Given the description of an element on the screen output the (x, y) to click on. 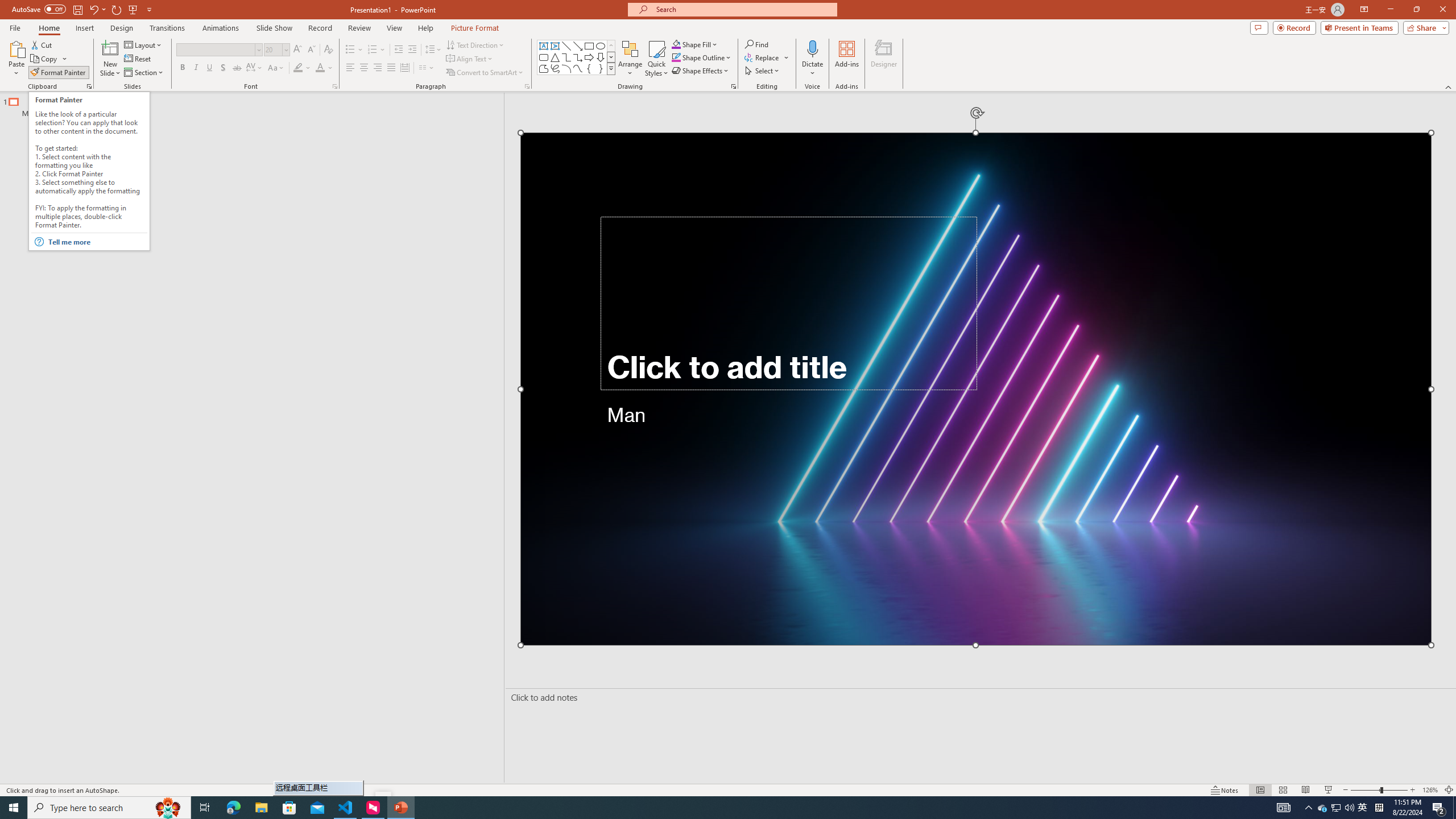
Freeform: Shape (543, 68)
Layout (143, 44)
Cut (42, 44)
Bold (182, 67)
Section (144, 72)
Font Color Red (320, 67)
Shape Fill Orange, Accent 2 (675, 44)
